Given the description of an element on the screen output the (x, y) to click on. 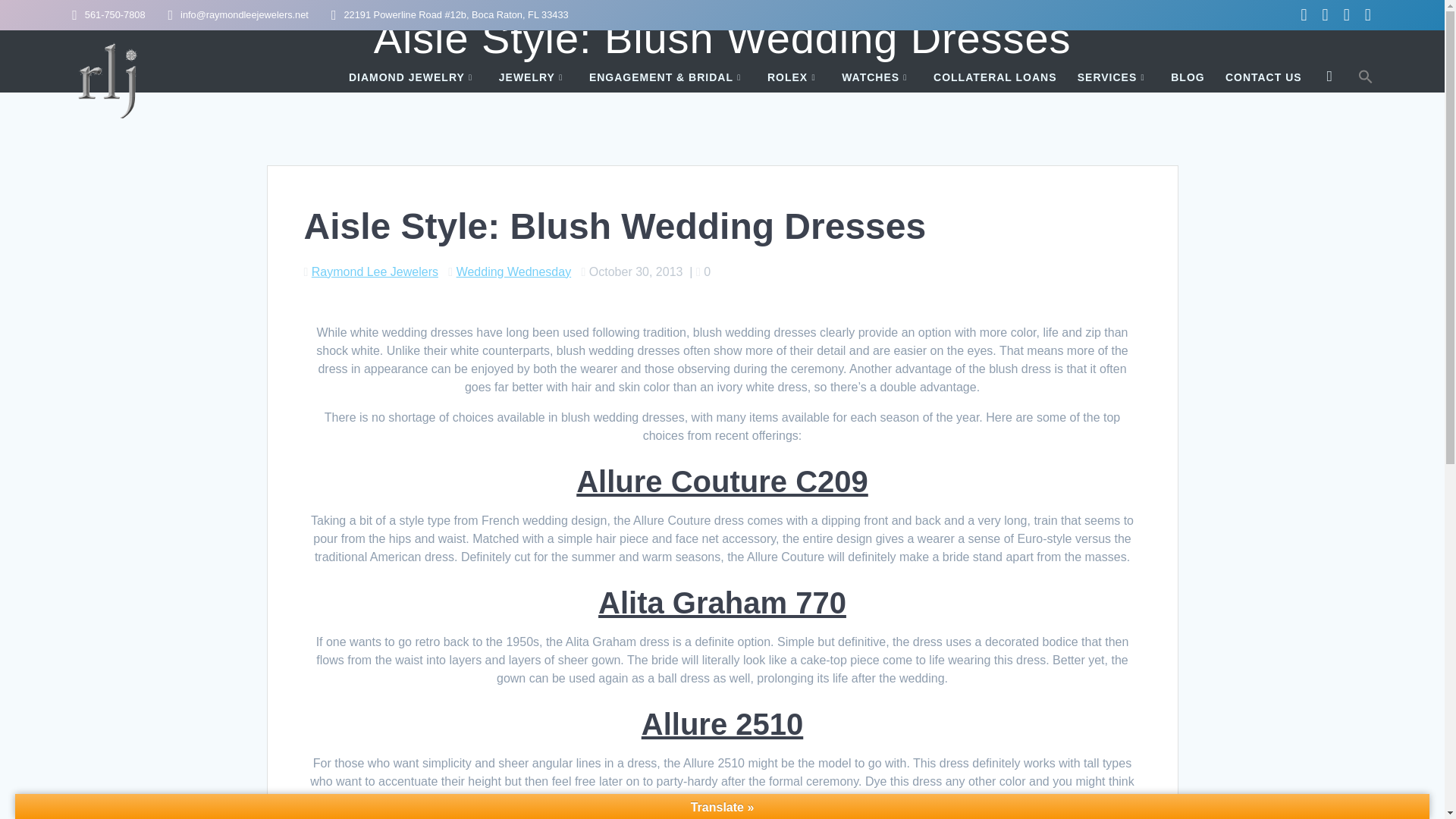
Posts by Raymond Lee Jewelers (374, 271)
JEWELRY (534, 77)
DIAMOND JEWELRY (414, 77)
